Given the description of an element on the screen output the (x, y) to click on. 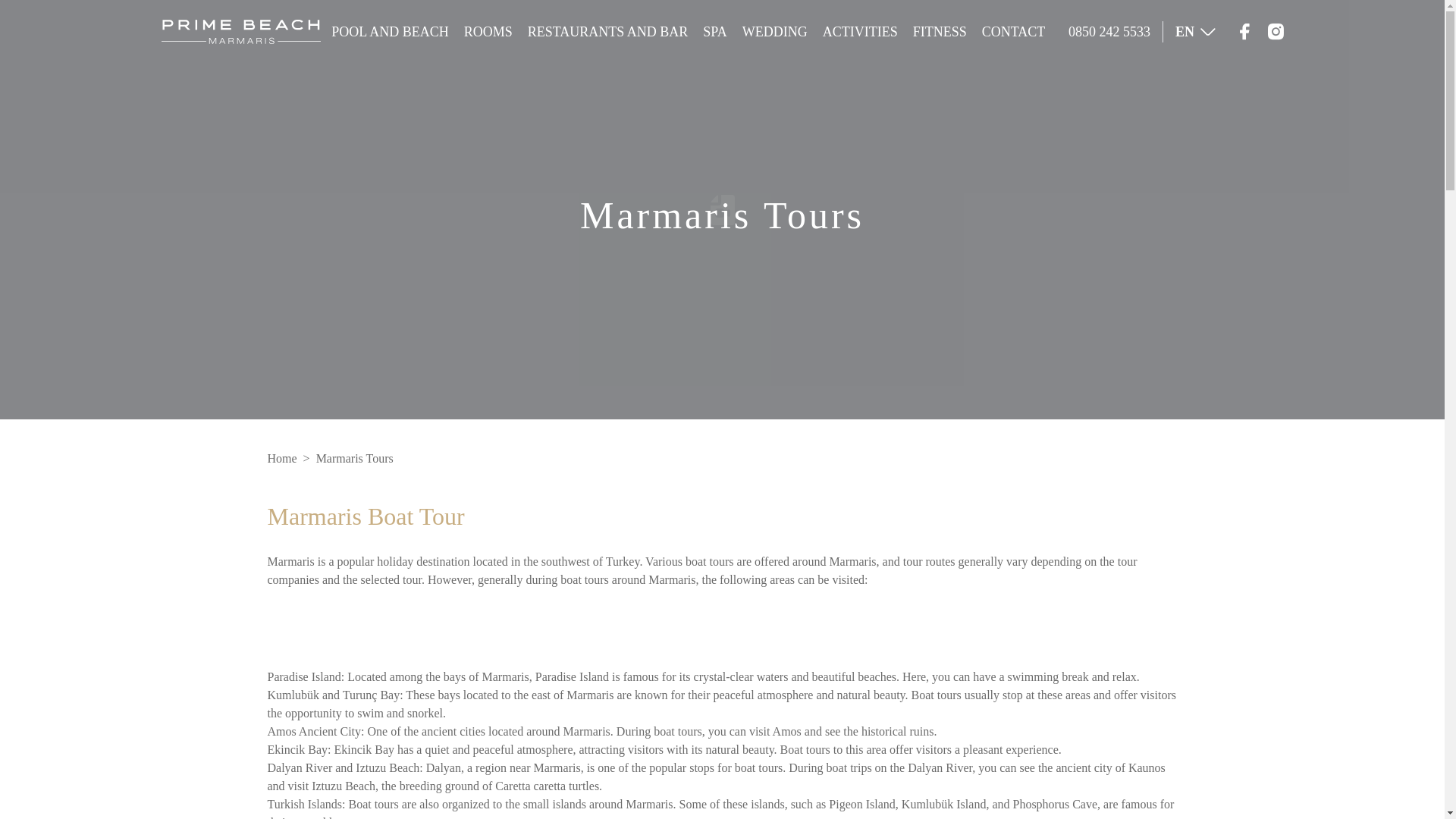
POOL AND BEACH (389, 31)
ACTIVITIES (860, 31)
CONTACT (1013, 31)
0850 242 5533 (1110, 31)
WEDDING (775, 31)
Marmaris Tours (354, 458)
RESTAURANTS AND BAR (607, 31)
ROOMS (488, 31)
SPA (714, 31)
EN (1194, 31)
